Given the description of an element on the screen output the (x, y) to click on. 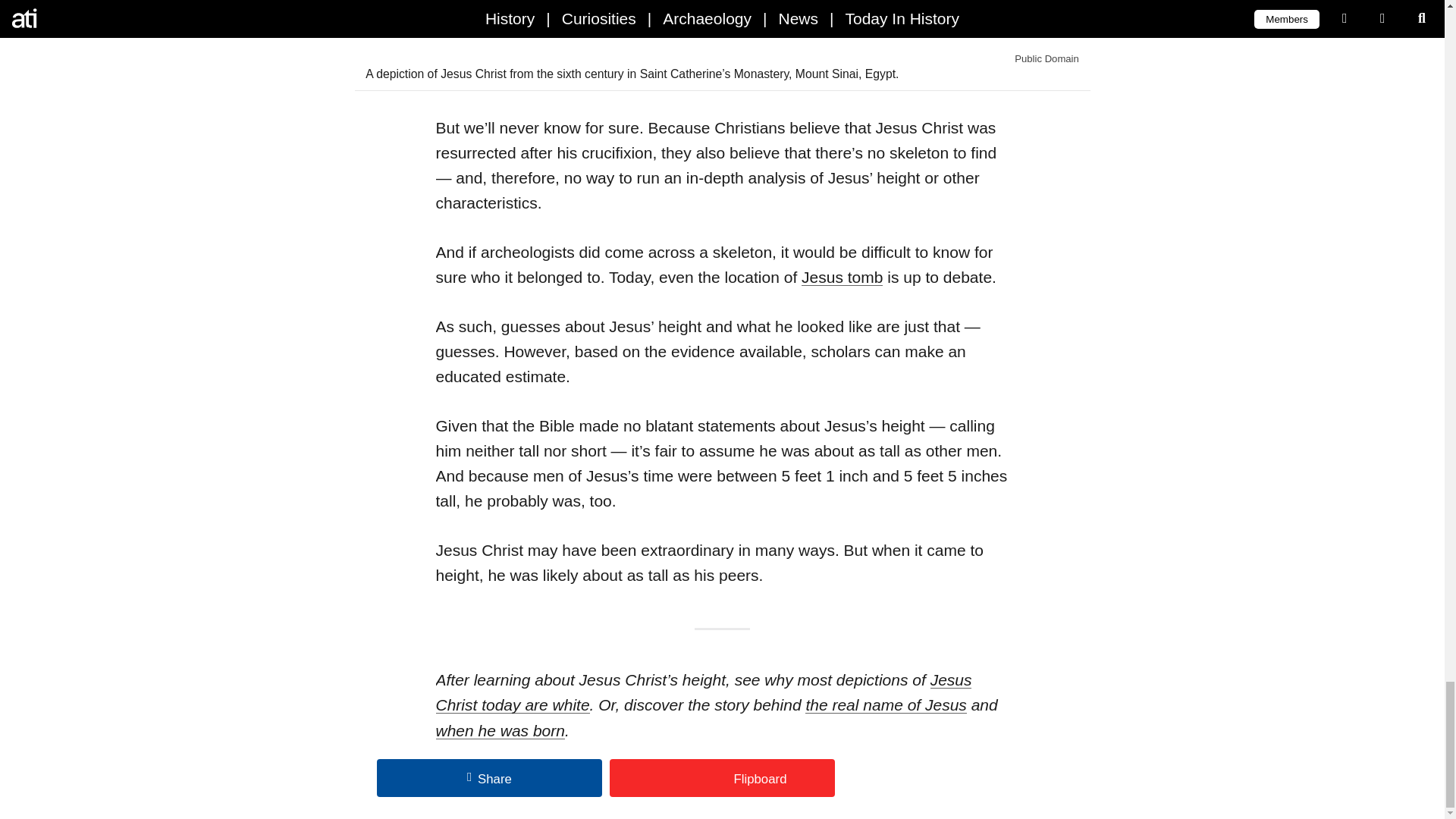
Share (489, 777)
Flipboard (722, 777)
the real name of Jesus (885, 704)
when he was born (499, 730)
Jesus Christ today are white (703, 691)
Jesus tomb (842, 276)
